Given the description of an element on the screen output the (x, y) to click on. 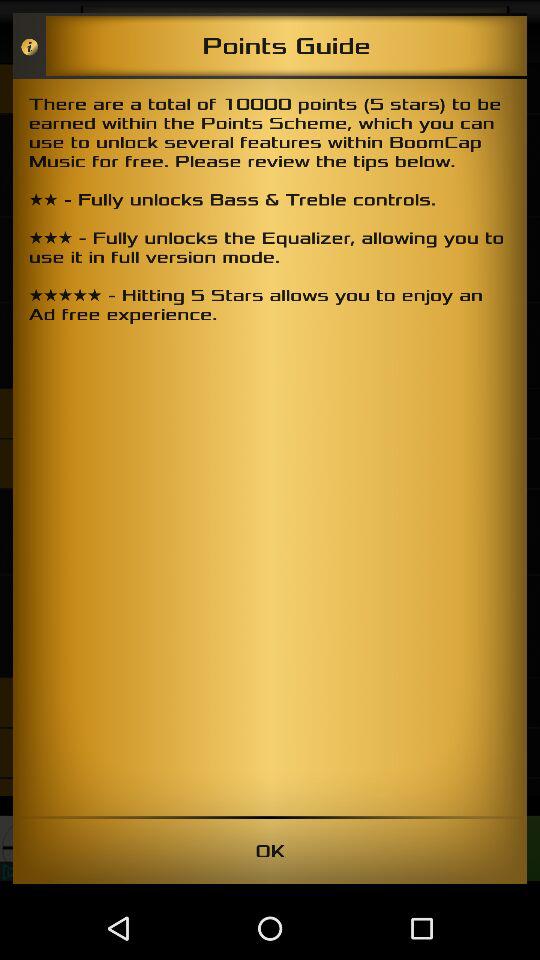
tap ok icon (269, 850)
